Given the description of an element on the screen output the (x, y) to click on. 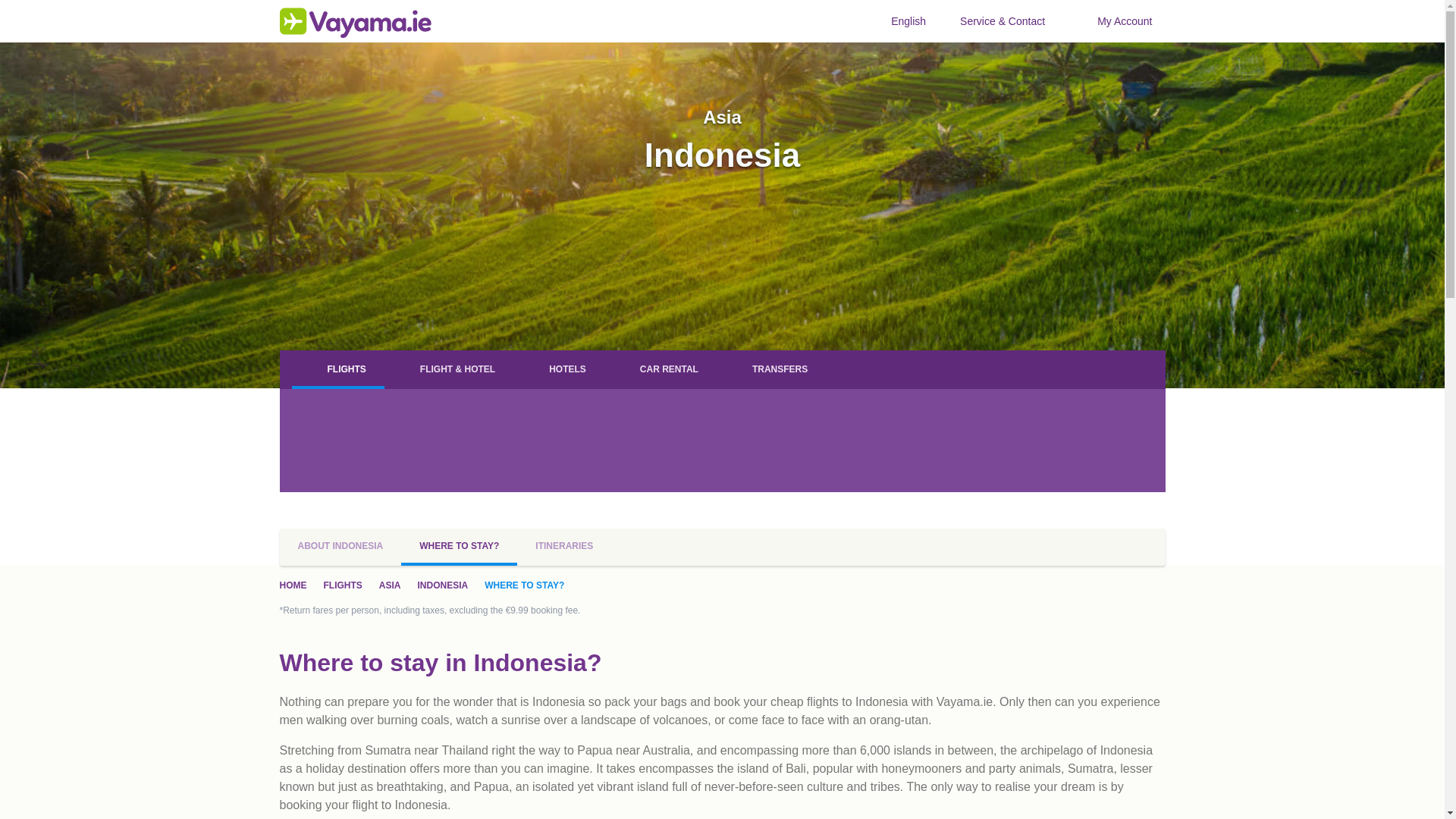
HOME (292, 584)
FLIGHTS (342, 584)
INDONESIA (441, 584)
English (902, 21)
ASIA (389, 584)
My Account (1116, 21)
